Given the description of an element on the screen output the (x, y) to click on. 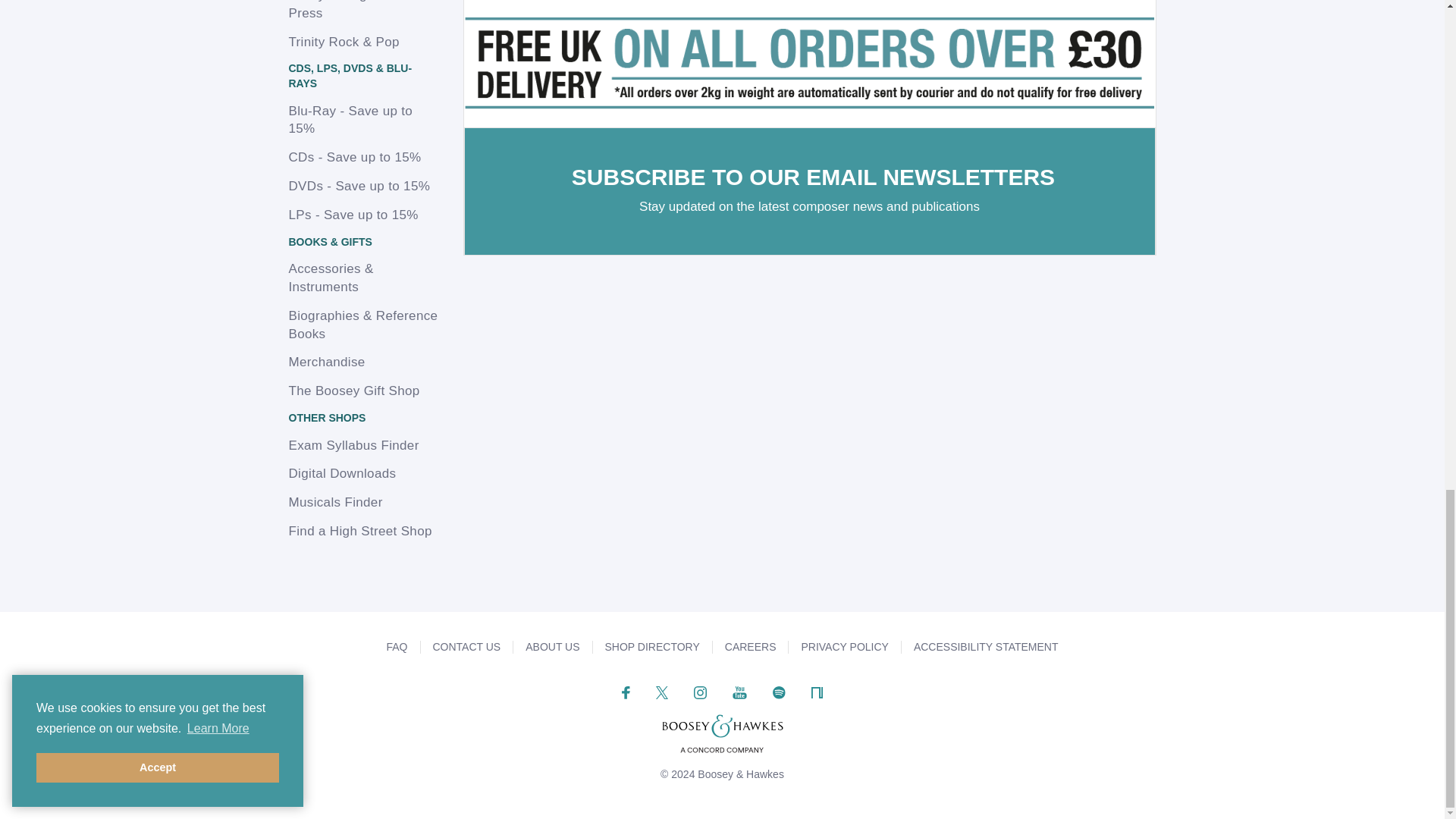
View Our YouTube Channel (738, 691)
Listen on Spotify (779, 691)
Shop Directory (652, 646)
Follow us on Twitter (662, 691)
Careers (750, 646)
Email us (466, 646)
Accessibility Statement (986, 646)
Privacy Policy (844, 646)
Follow us on Instagram (700, 691)
Frequently Asked Questions (396, 646)
